Given the description of an element on the screen output the (x, y) to click on. 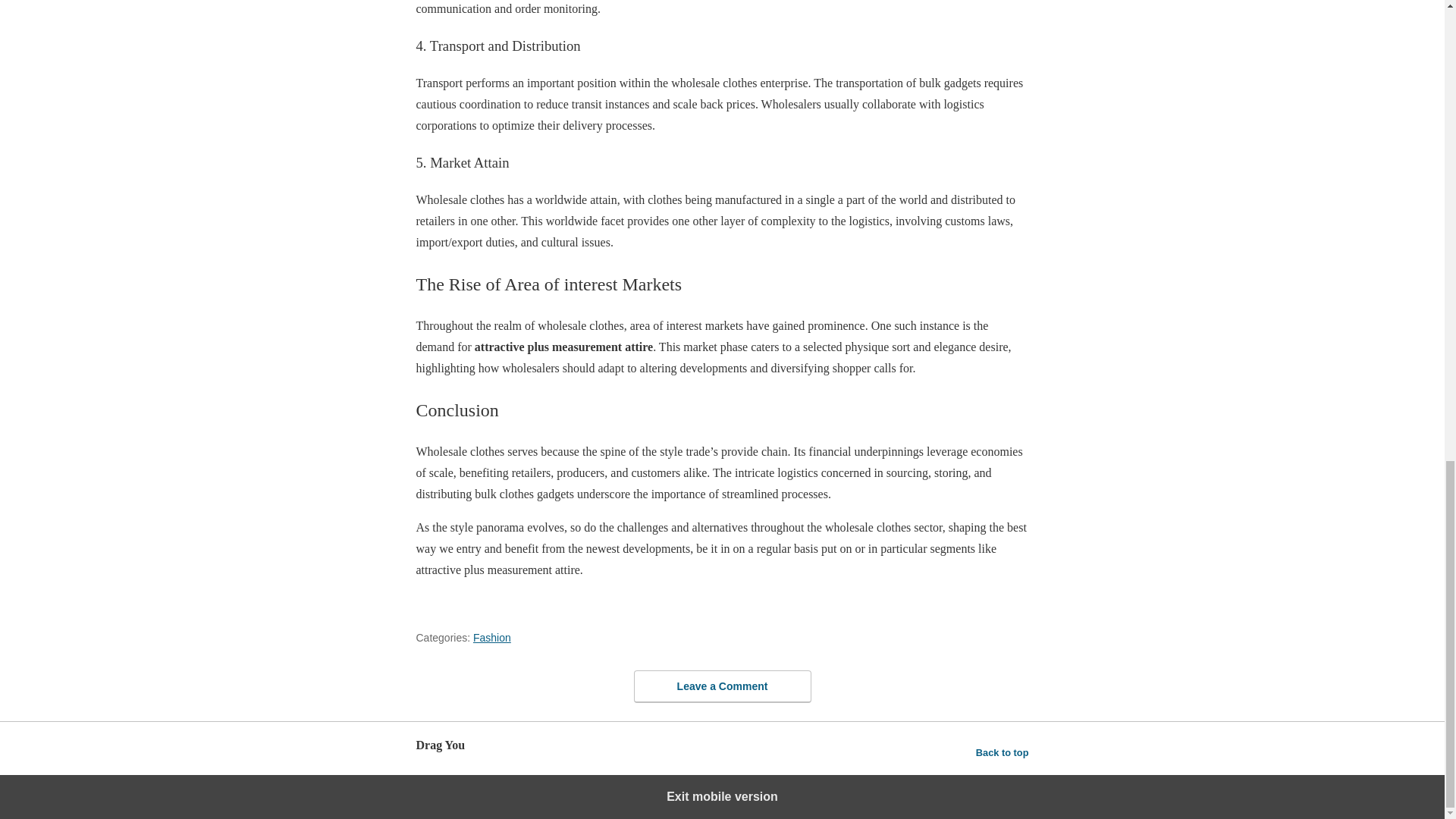
Leave a Comment (721, 686)
Fashion (492, 637)
Back to top (1002, 752)
